Given the description of an element on the screen output the (x, y) to click on. 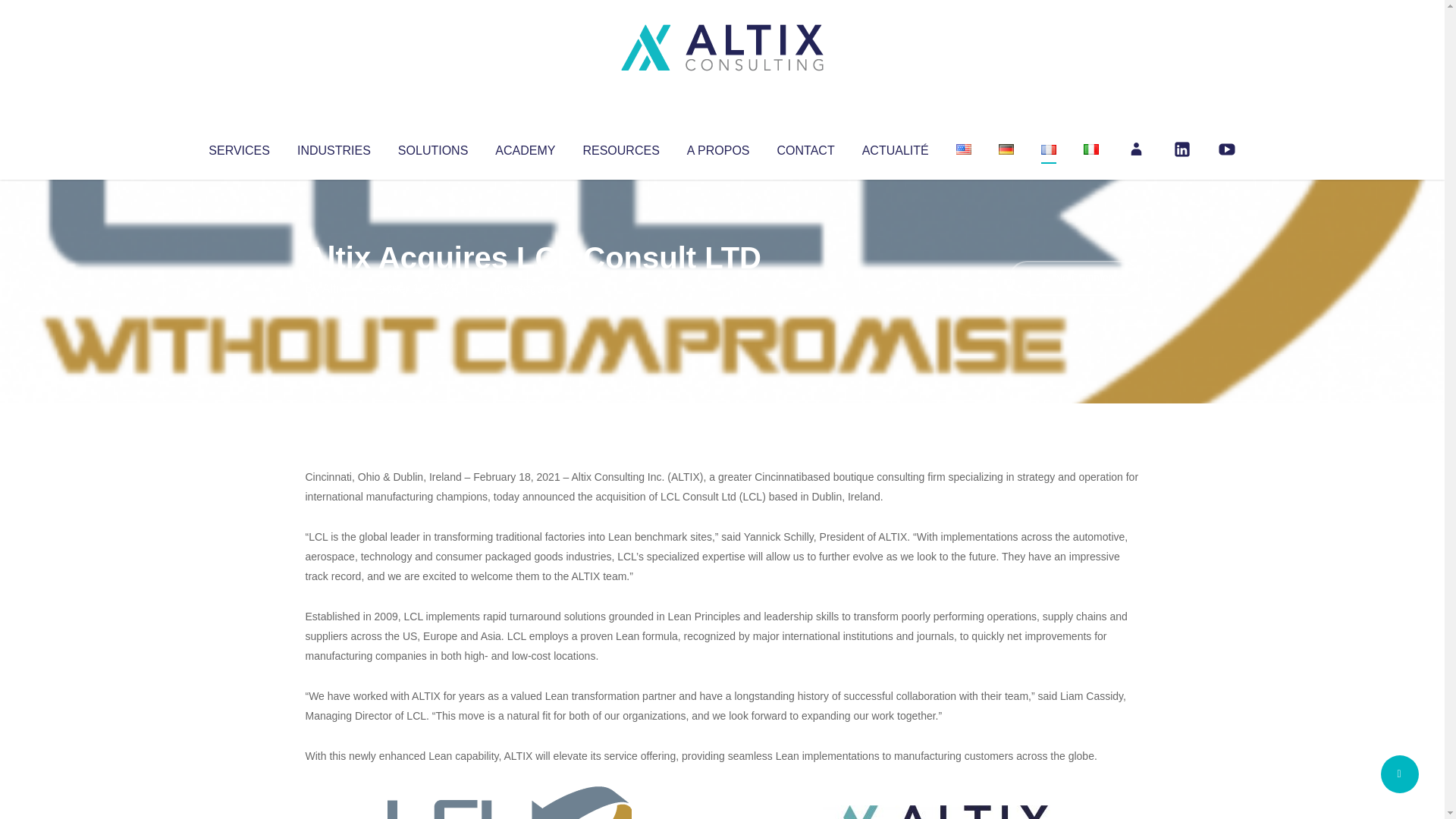
A PROPOS (718, 146)
No Comments (1073, 278)
ACADEMY (524, 146)
Articles par Altix (333, 287)
SOLUTIONS (432, 146)
INDUSTRIES (334, 146)
RESOURCES (620, 146)
Altix (333, 287)
SERVICES (238, 146)
Uncategorized (530, 287)
